Given the description of an element on the screen output the (x, y) to click on. 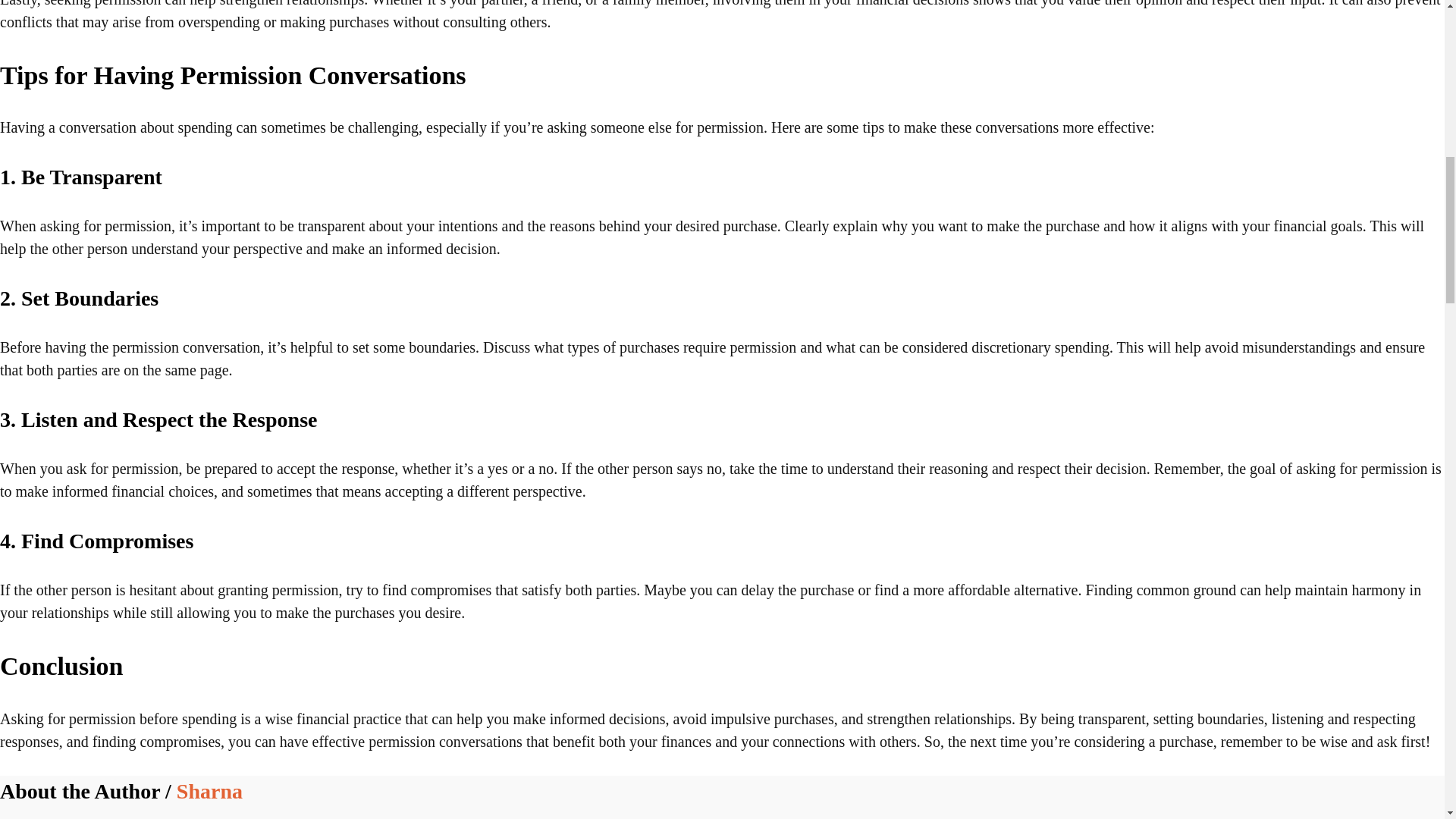
Sharna (209, 791)
Posts by Sharna (209, 791)
